Given the description of an element on the screen output the (x, y) to click on. 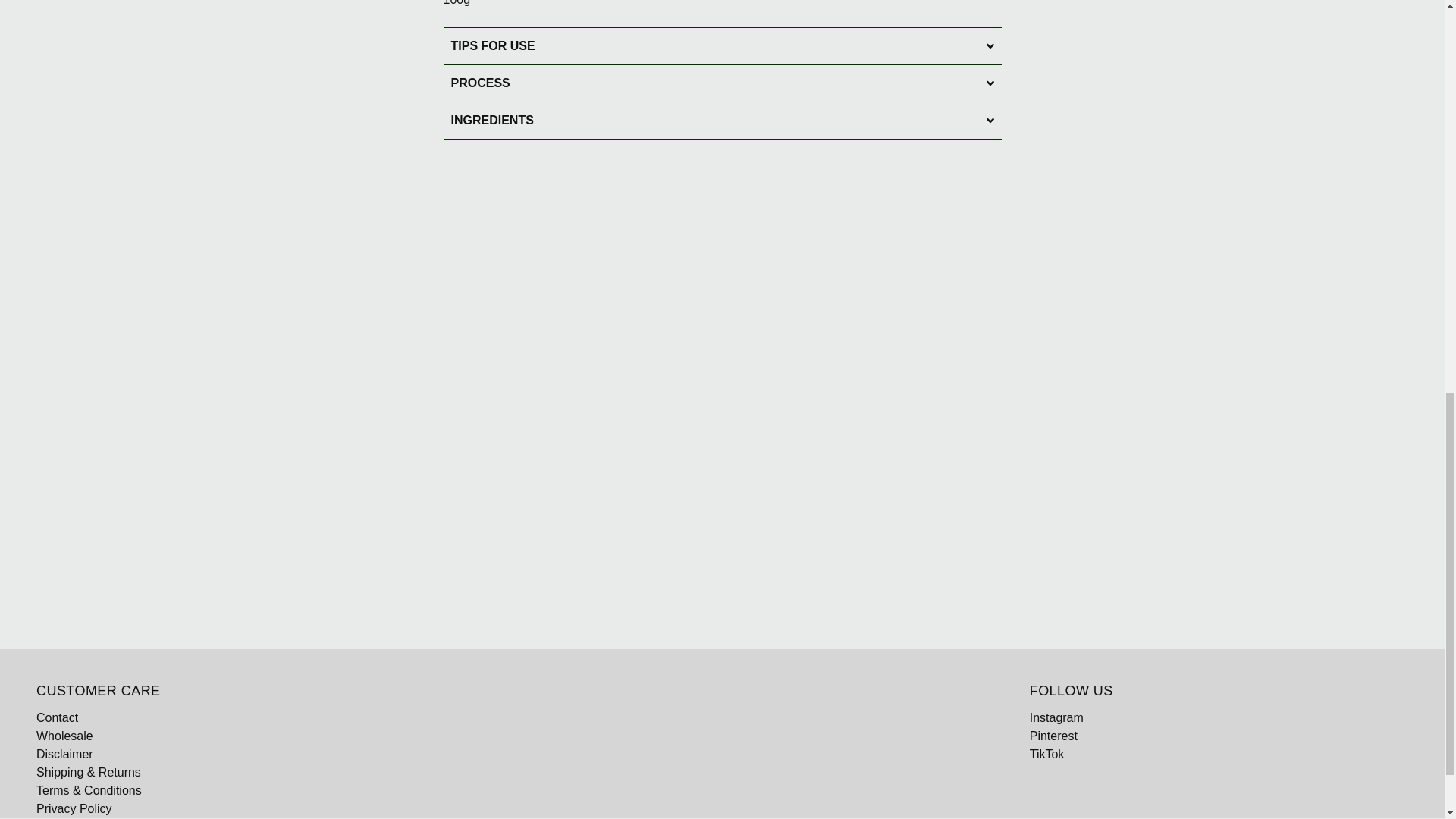
Privacy Policy (74, 808)
TikTok (1046, 753)
Contact (57, 717)
Wholesale (64, 735)
Disclaimer (64, 753)
Instagram (1056, 717)
Pinterest (1053, 735)
